Given the description of an element on the screen output the (x, y) to click on. 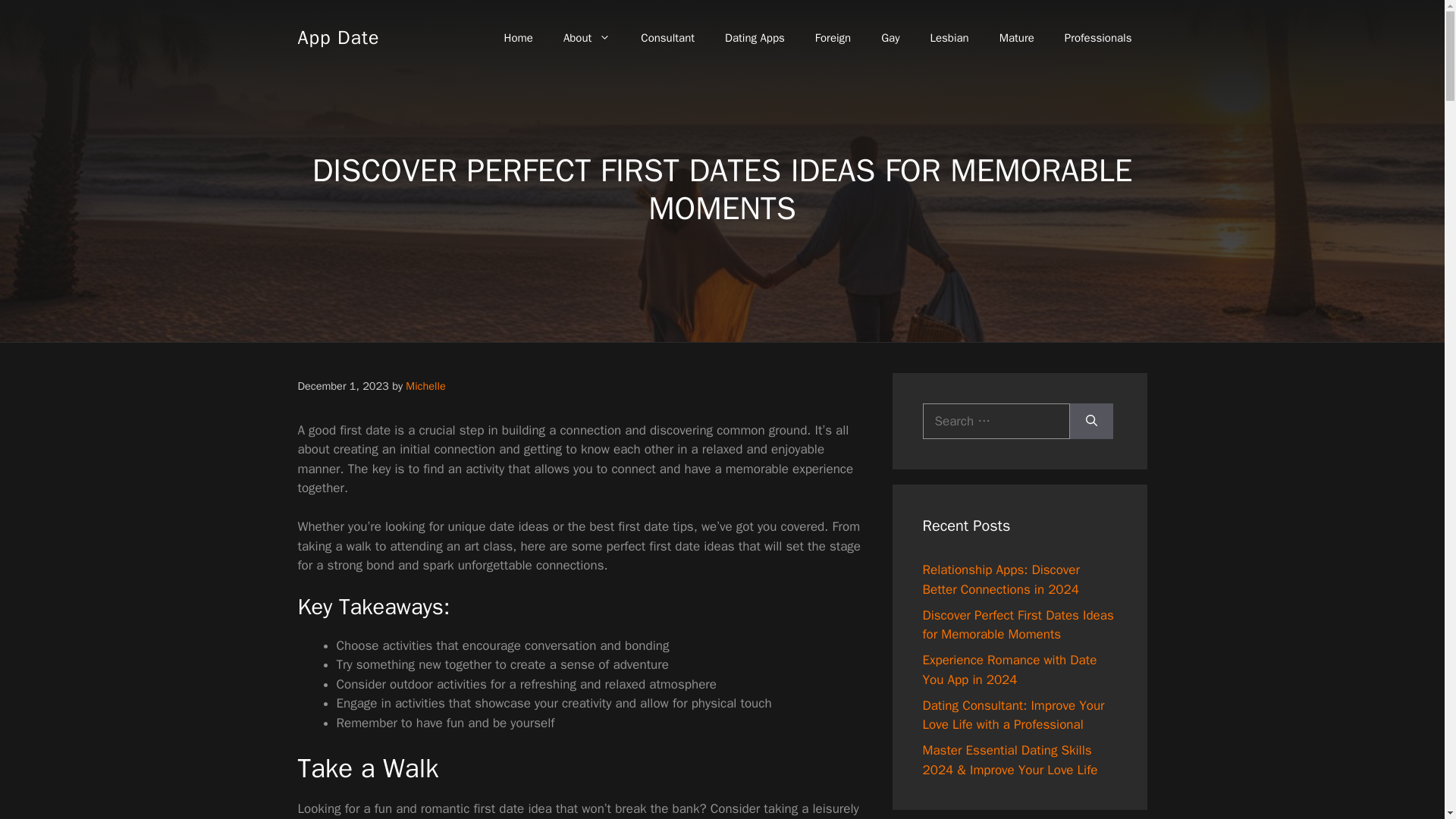
Professionals (1098, 37)
Consultant (668, 37)
About (587, 37)
View all posts by Michelle (425, 386)
Home (518, 37)
App Date (337, 37)
Discover Perfect First Dates Ideas for Memorable Moments (1017, 624)
Dating Apps (754, 37)
Foreign (832, 37)
Search for: (994, 421)
